Given the description of an element on the screen output the (x, y) to click on. 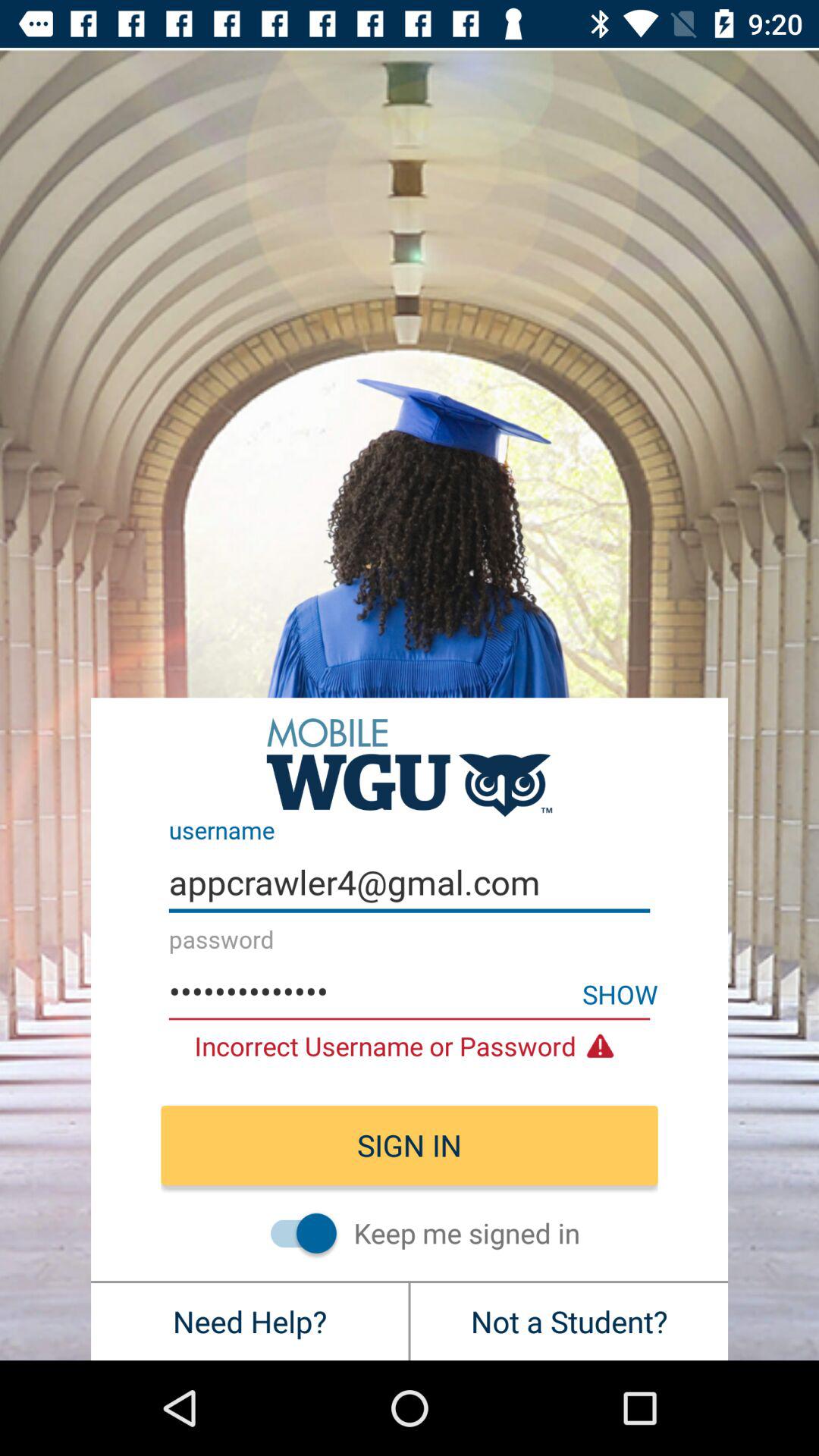
always stay signed in (295, 1232)
